Given the description of an element on the screen output the (x, y) to click on. 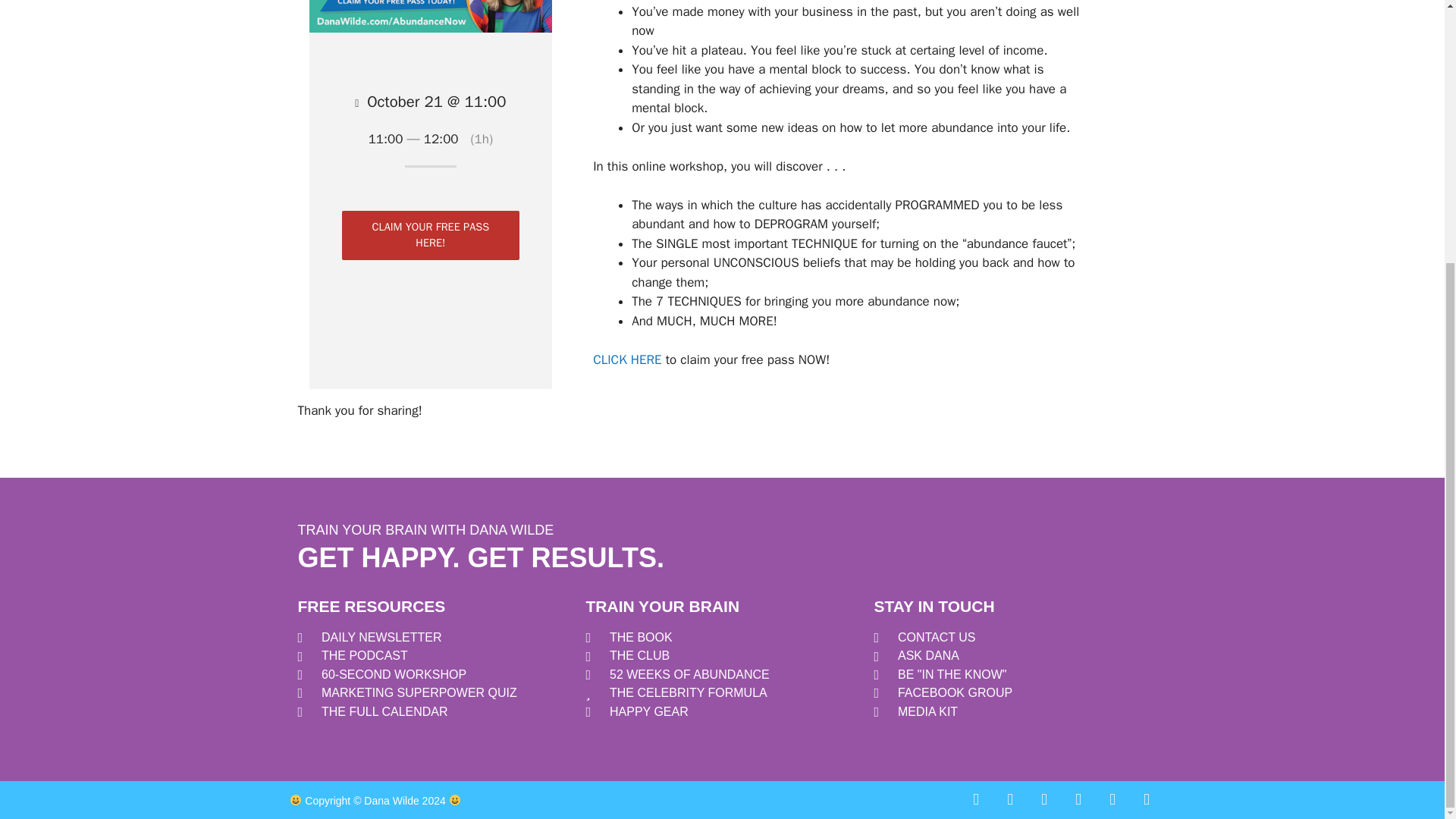
MEDIA KIT (1010, 711)
BE "IN THE KNOW" (1010, 674)
CLICK HERE (626, 358)
HAPPY GEAR (722, 711)
THE BOOK (722, 637)
MARKETING SUPERPOWER QUIZ (433, 692)
DAILY NEWSLETTER (433, 637)
FACEBOOK GROUP (1010, 692)
CLAIM YOUR FREE PASS HERE! (430, 235)
ASK DANA (1010, 655)
52 WEEKS OF ABUNDANCE (722, 674)
THE CLUB (722, 655)
60-SECOND WORKSHOP (433, 674)
CONTACT US (1010, 637)
THE FULL CALENDAR (433, 711)
